Given the description of an element on the screen output the (x, y) to click on. 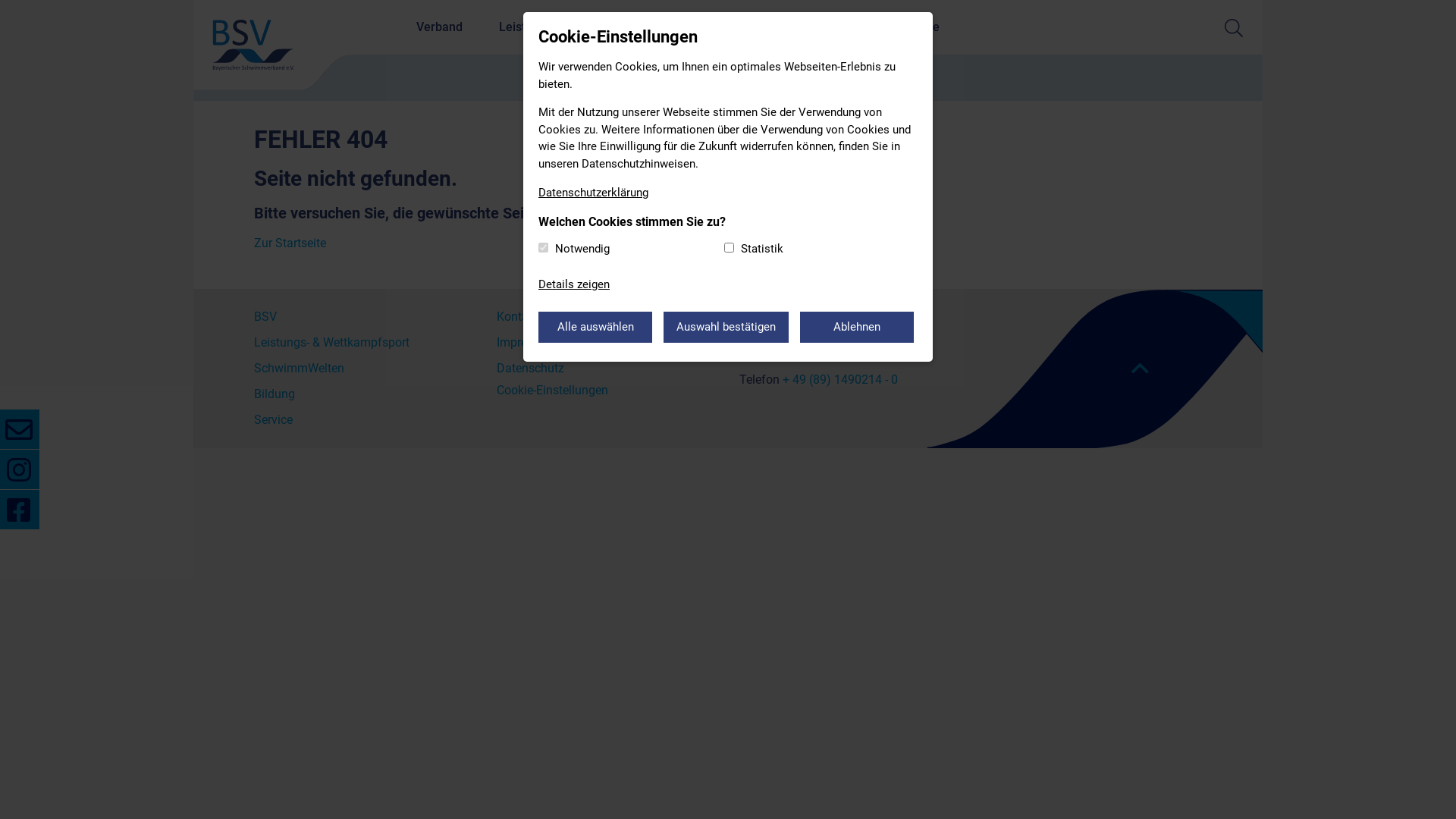
BSV Element type: text (363, 316)
Details zeigen Element type: text (573, 284)
Facebook Element type: hover (19, 509)
Schwimmjugend Element type: text (816, 27)
Ablehnen Element type: text (856, 326)
Instagram Element type: hover (19, 469)
Service Element type: text (918, 27)
+ 49 (89) 1490214 - 0 Element type: text (839, 379)
Leistungs- & Wettkampfsport Element type: text (577, 27)
Zur Startseite Element type: text (290, 242)
Leistungs- & Wettkampfsport Element type: text (363, 342)
Verband Element type: text (439, 27)
Bildung Element type: text (363, 394)
Kontakt Element type: text (606, 316)
Cookie-Einstellungen Element type: text (552, 389)
Kontatk/E-Mail Element type: hover (19, 428)
Datenschutz Element type: text (606, 368)
Impressum Element type: text (606, 342)
Pfeil nach oben Element type: hover (1139, 368)
Bildung Element type: text (714, 27)
SchwimmWelten Element type: text (363, 368)
Service Element type: text (363, 420)
